Given the description of an element on the screen output the (x, y) to click on. 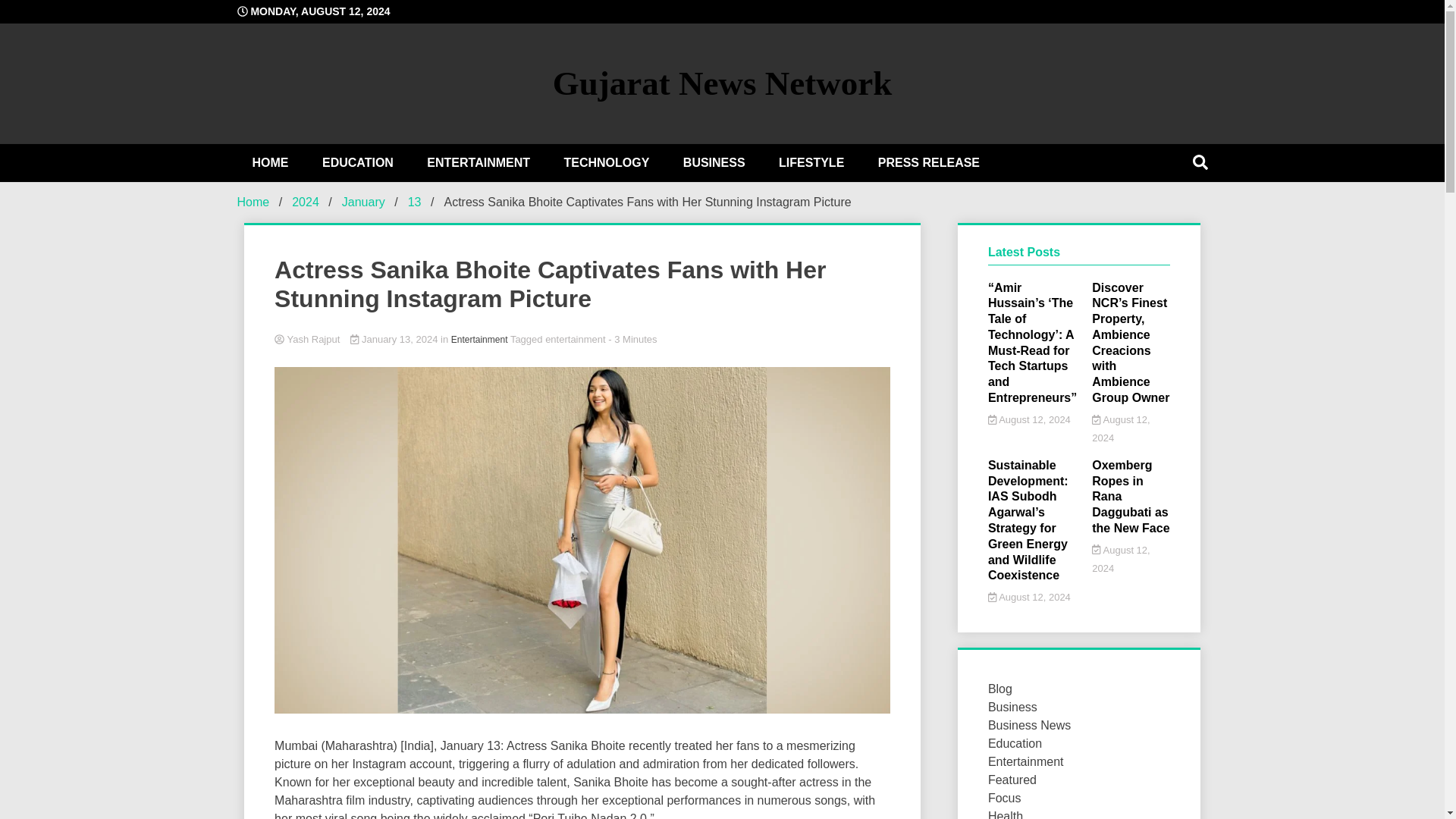
TECHNOLOGY (605, 162)
HOME (268, 162)
Gujarat News Network (722, 83)
BUSINESS (714, 162)
13 (414, 201)
PRESS RELEASE (928, 162)
2024 (305, 201)
entertainment (574, 338)
January (363, 201)
LIFESTYLE (810, 162)
